Given the description of an element on the screen output the (x, y) to click on. 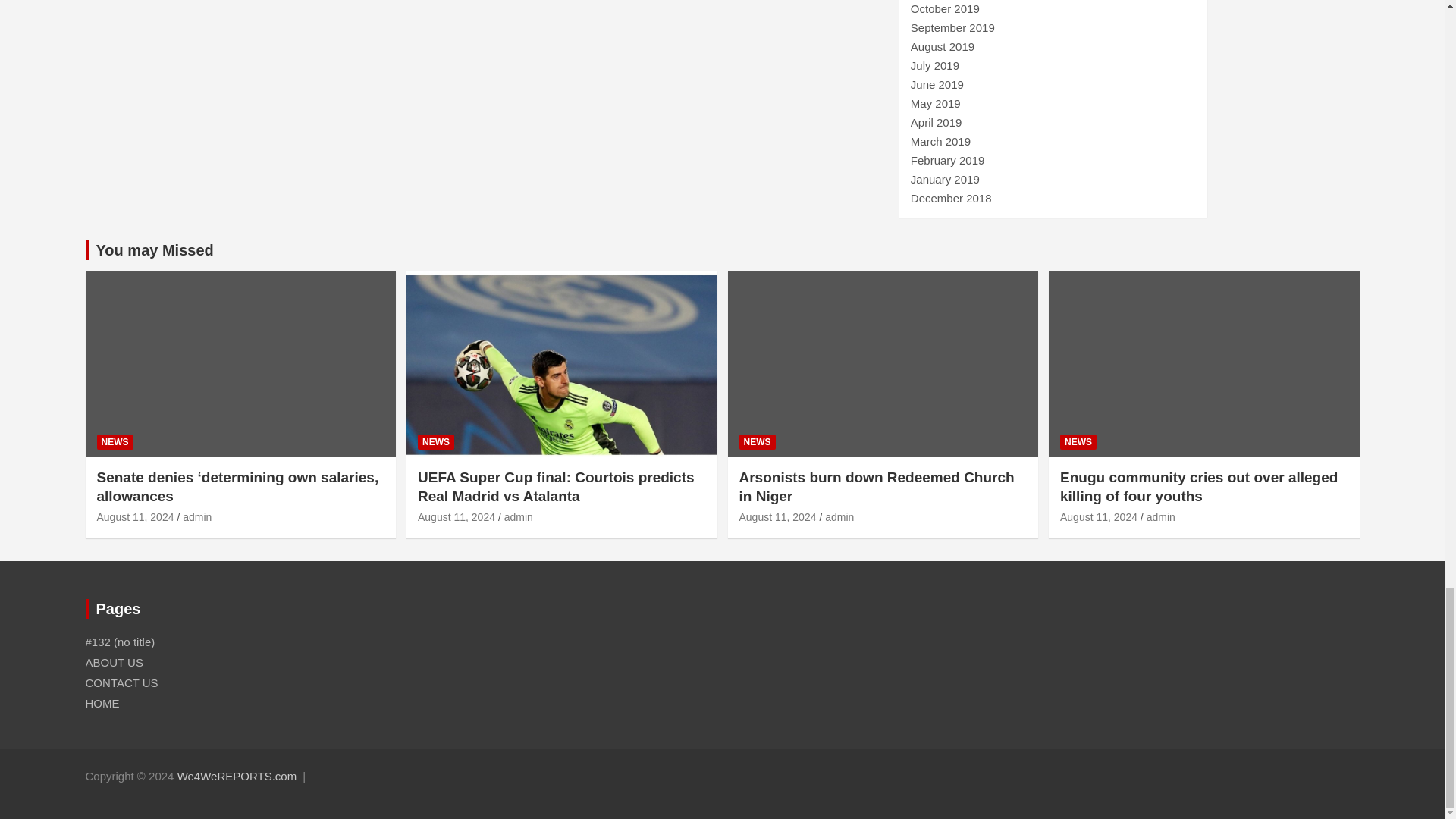
Arsonists burn down Redeemed Church in Niger (776, 517)
We4WeREPORTS.com (237, 775)
